Given the description of an element on the screen output the (x, y) to click on. 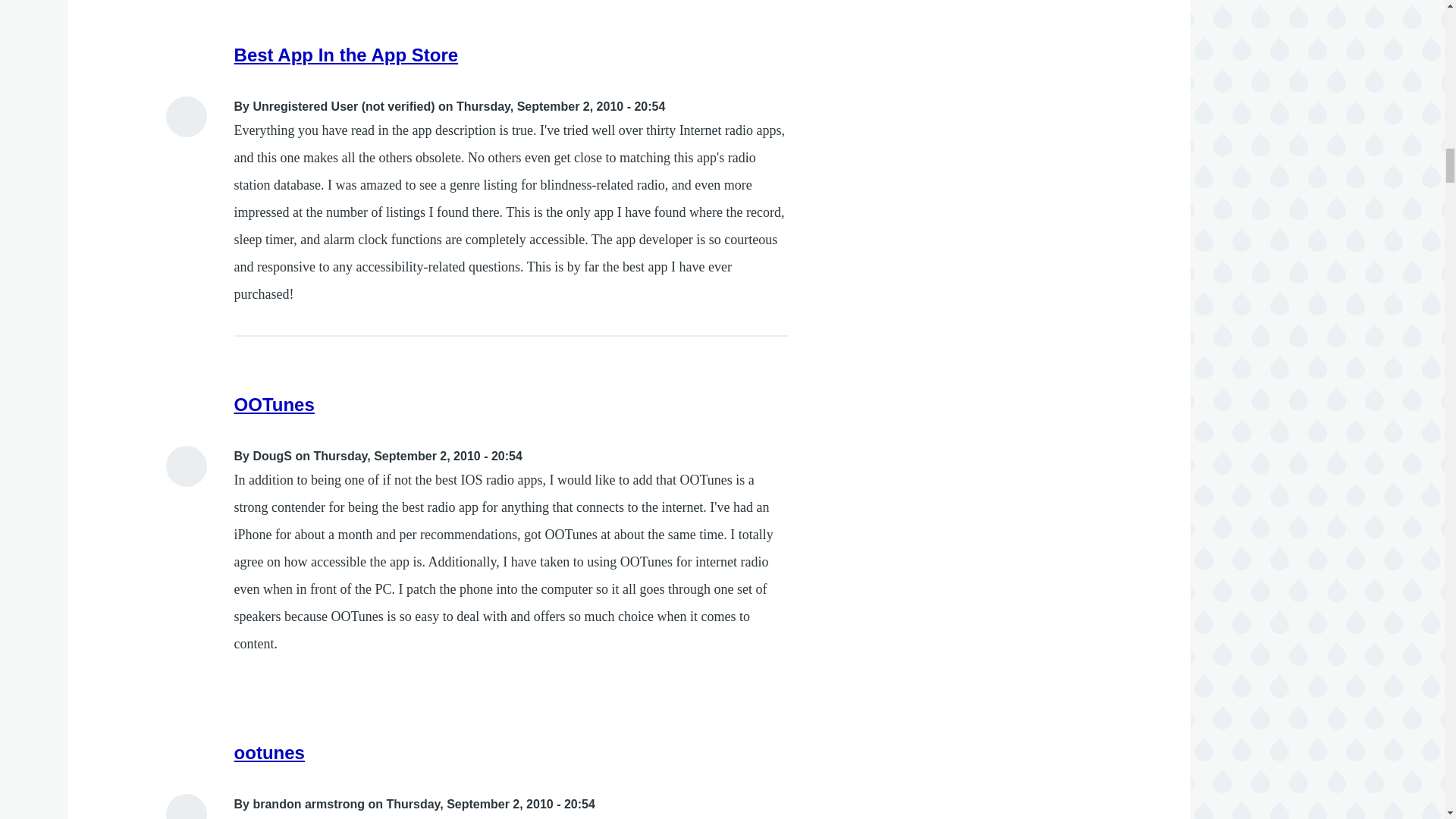
ootunes (269, 752)
OOTunes (274, 403)
Best App In the App Store (346, 55)
